Given the description of an element on the screen output the (x, y) to click on. 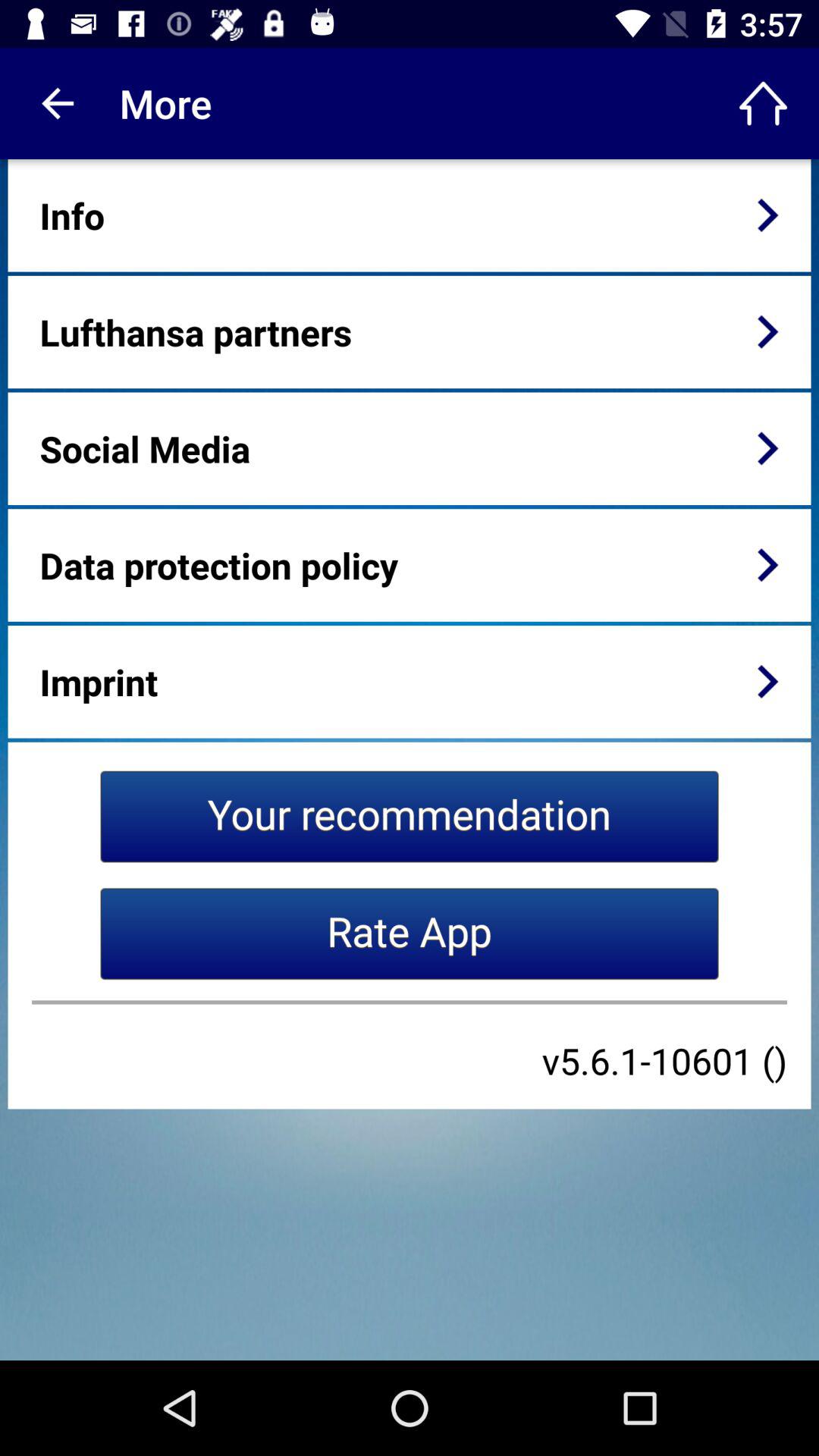
press the app to the left of the more (55, 103)
